Given the description of an element on the screen output the (x, y) to click on. 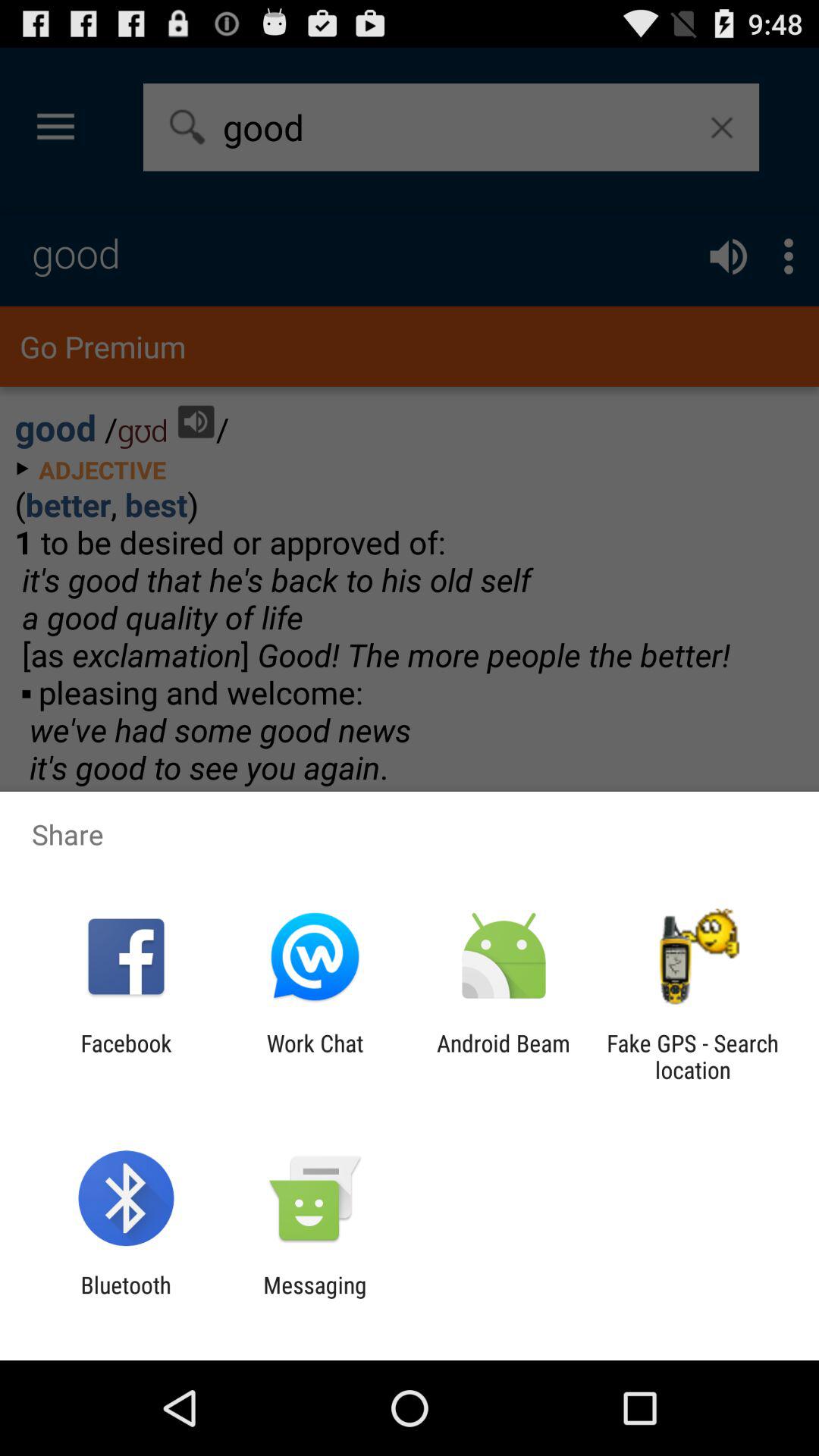
launch icon to the right of work chat app (503, 1056)
